Given the description of an element on the screen output the (x, y) to click on. 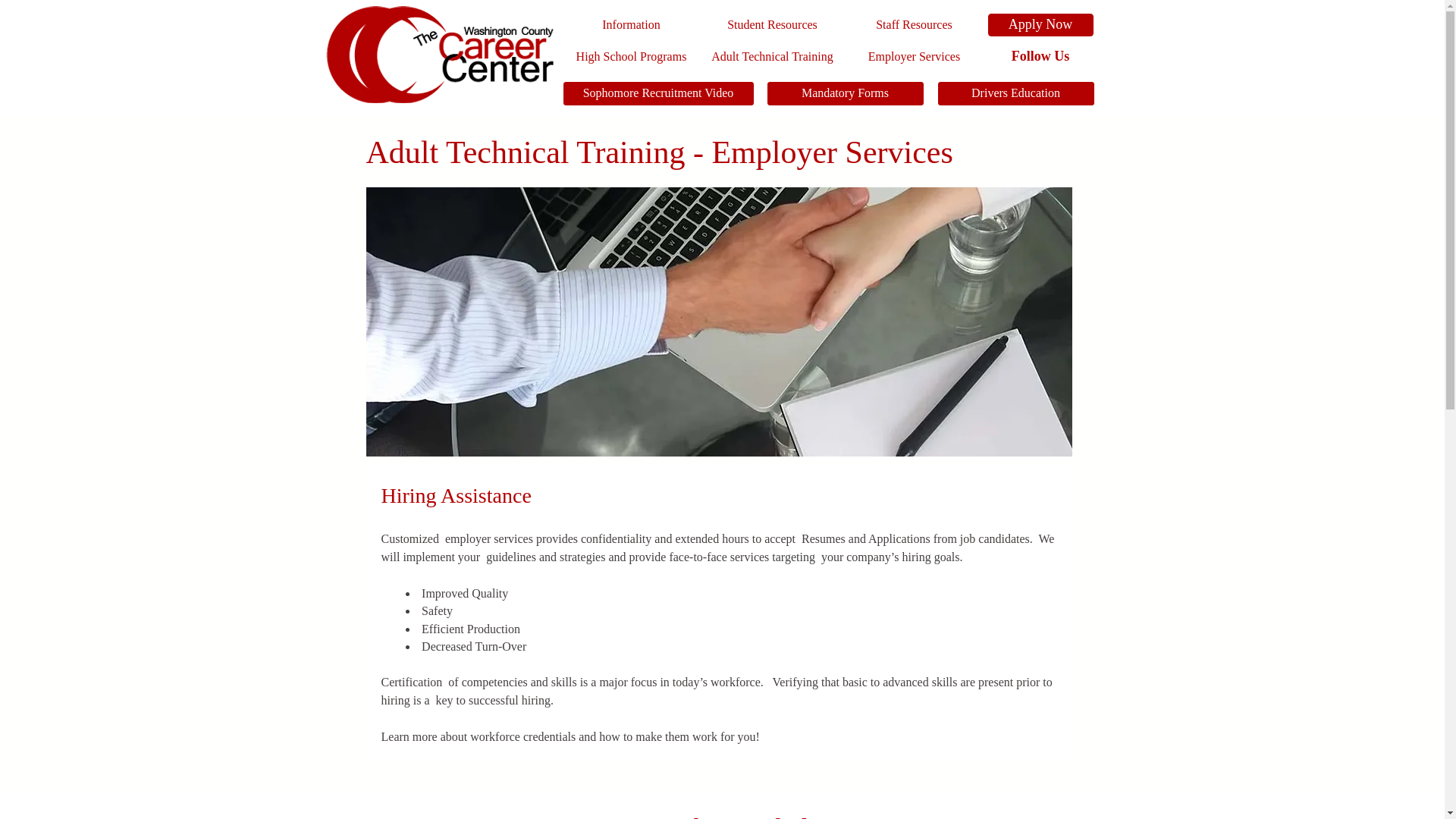
High School Programs (630, 56)
Mandatory Forms (845, 93)
Drivers Education (1015, 93)
Apply Now (1040, 24)
Adult Technical Training (771, 56)
Information (630, 24)
Sophomore Recruitment Video (657, 93)
Student Resources (771, 24)
Follow Us (1040, 56)
